Given the description of an element on the screen output the (x, y) to click on. 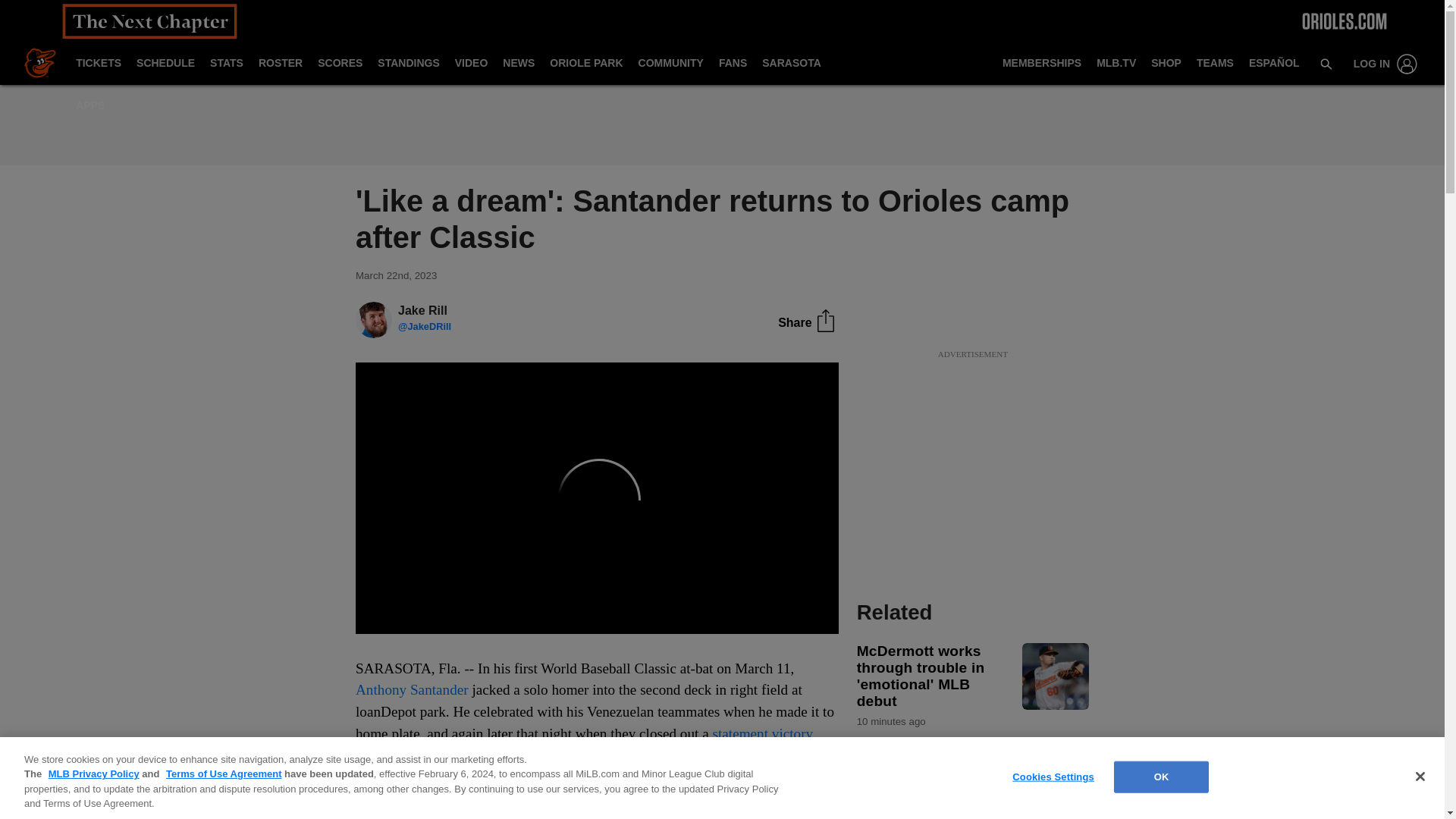
SCHEDULE (165, 63)
share-square-2 (825, 320)
search-2 (1326, 63)
STATS (226, 63)
3rd party ad content (972, 457)
3rd party ad content (721, 124)
TICKETS (98, 63)
ROSTER (280, 63)
